Given the description of an element on the screen output the (x, y) to click on. 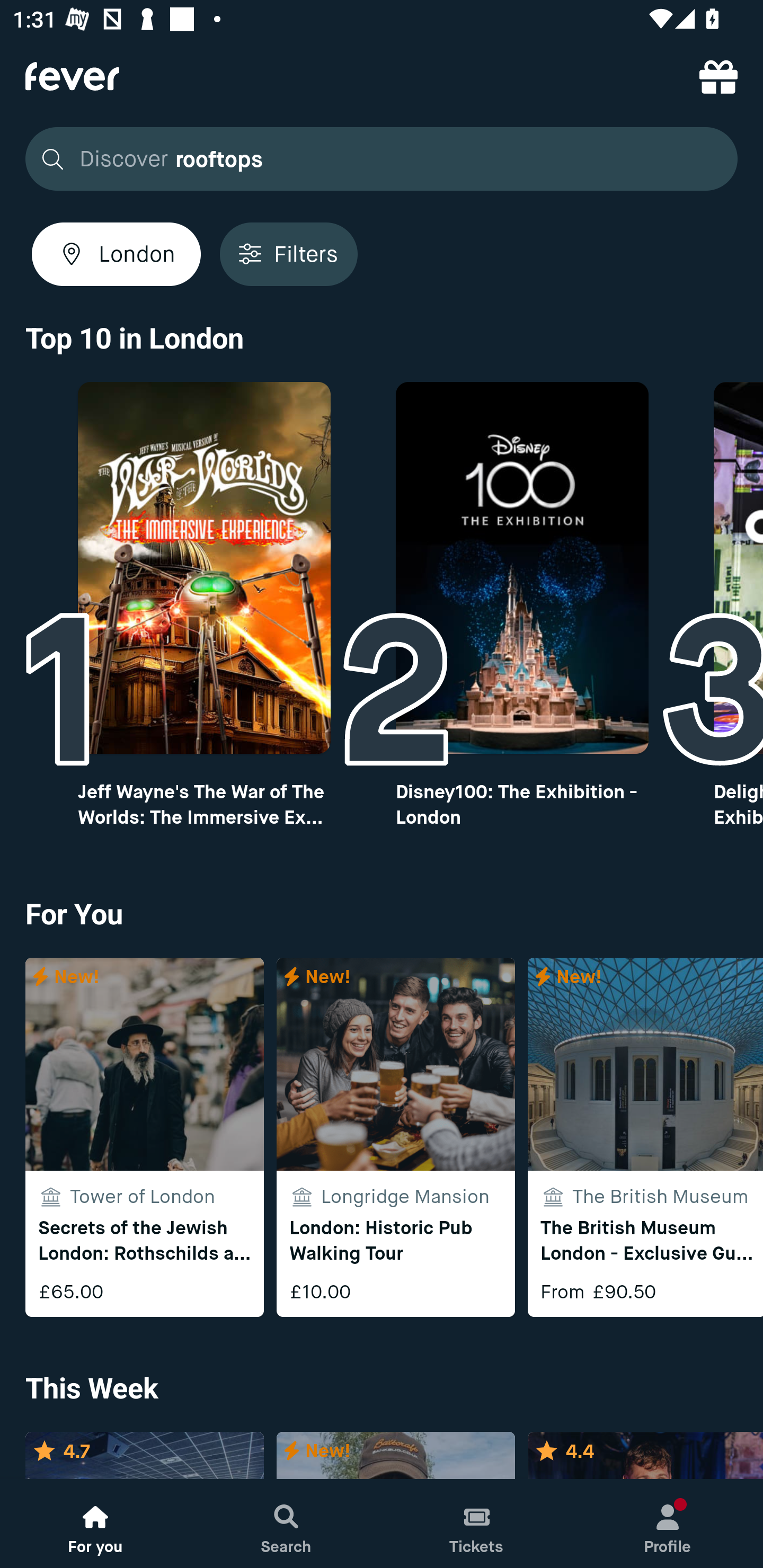
referral (718, 75)
Discover rooftops (381, 158)
Discover rooftops (376, 158)
London (116, 253)
Filters (288, 253)
Top10 image (203, 568)
Top10 image (521, 568)
Search (285, 1523)
Tickets (476, 1523)
Profile, New notification Profile (667, 1523)
